Given the description of an element on the screen output the (x, y) to click on. 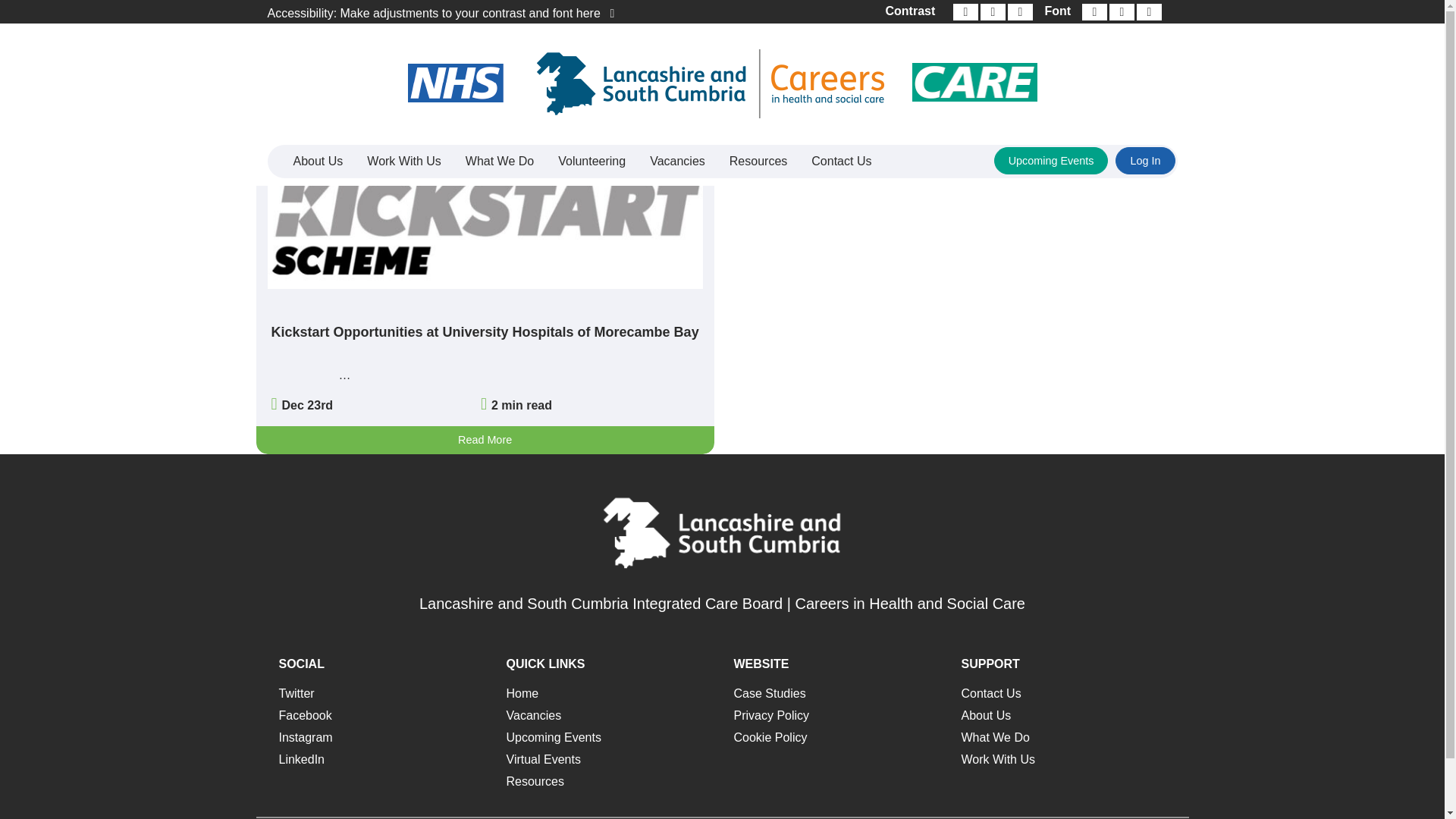
Work With Us (403, 161)
Set high contrast mode (1019, 12)
Vacancies (677, 161)
Upcoming Events (1051, 160)
Set night contrast mode (991, 12)
Resources (758, 161)
Log In (1144, 160)
Upcoming Events (1051, 160)
Set default font size (1121, 12)
Set larger font size (1148, 12)
Volunteering (591, 161)
What We Do (499, 161)
Contact Us (841, 161)
